Given the description of an element on the screen output the (x, y) to click on. 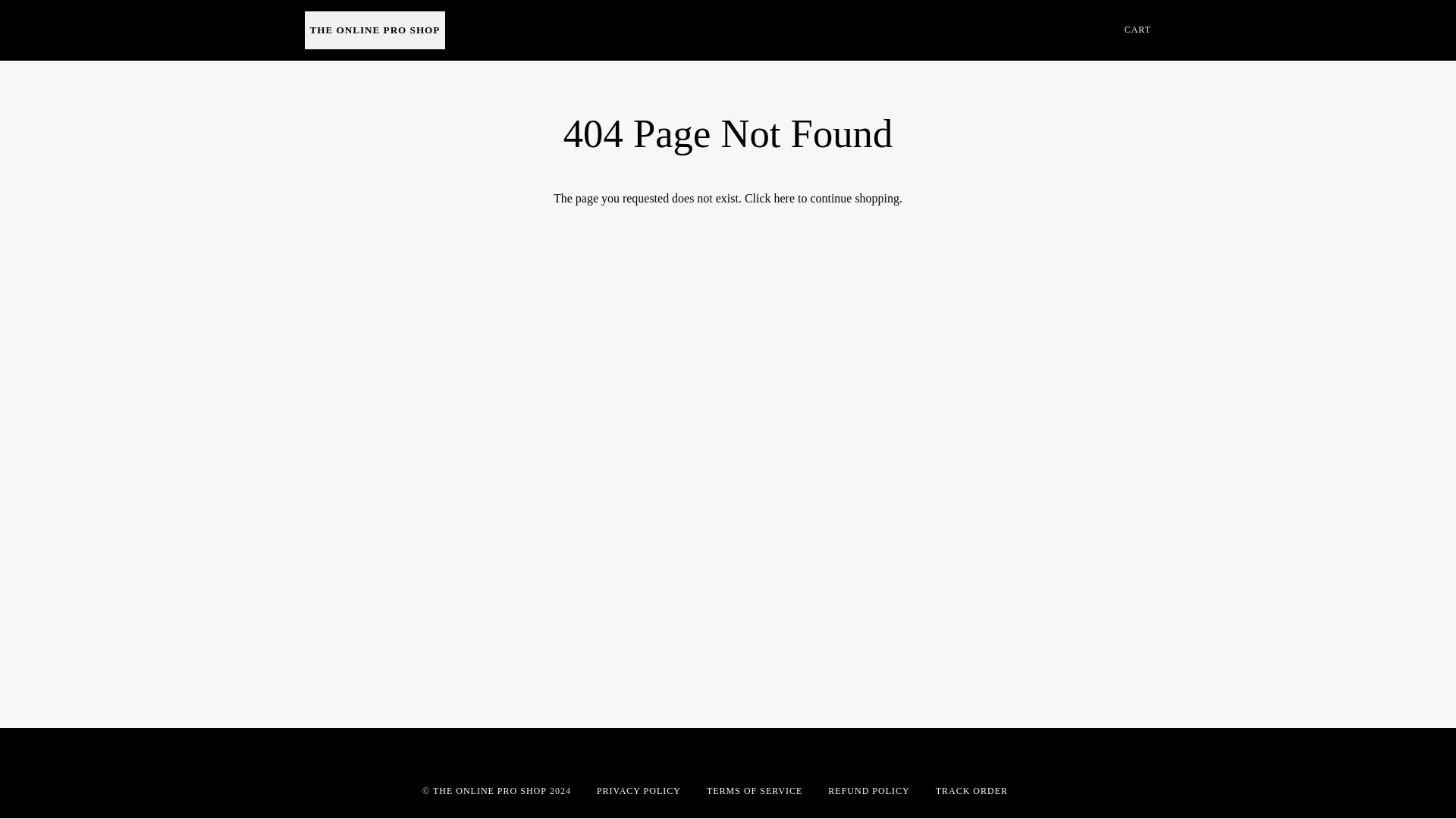
THE ONLINE PRO SHOP (374, 30)
THE ONLINE PRO SHOP (489, 790)
TERMS OF SERVICE (754, 790)
here (784, 197)
TRACK ORDER (971, 790)
PRIVACY POLICY (638, 790)
REFUND POLICY (868, 790)
